Given the description of an element on the screen output the (x, y) to click on. 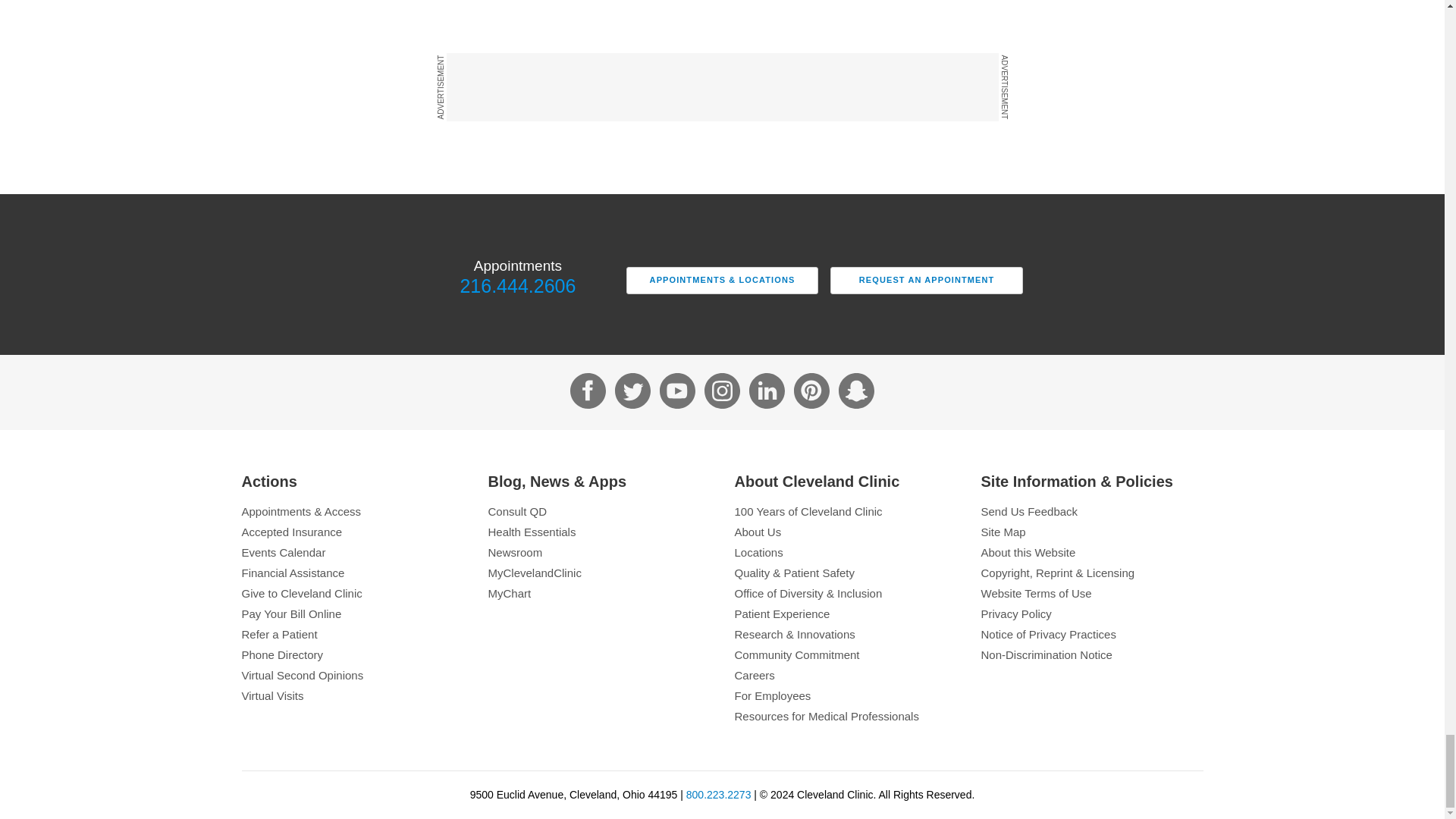
Careers (844, 674)
Appointments (352, 511)
Health Essentials (598, 531)
Consult QD (598, 511)
Send Us Feedback (1092, 511)
Pay Your Bill (352, 613)
Newsroom (598, 552)
Accepted Insurance (352, 531)
Phone Directory (352, 654)
